Given the description of an element on the screen output the (x, y) to click on. 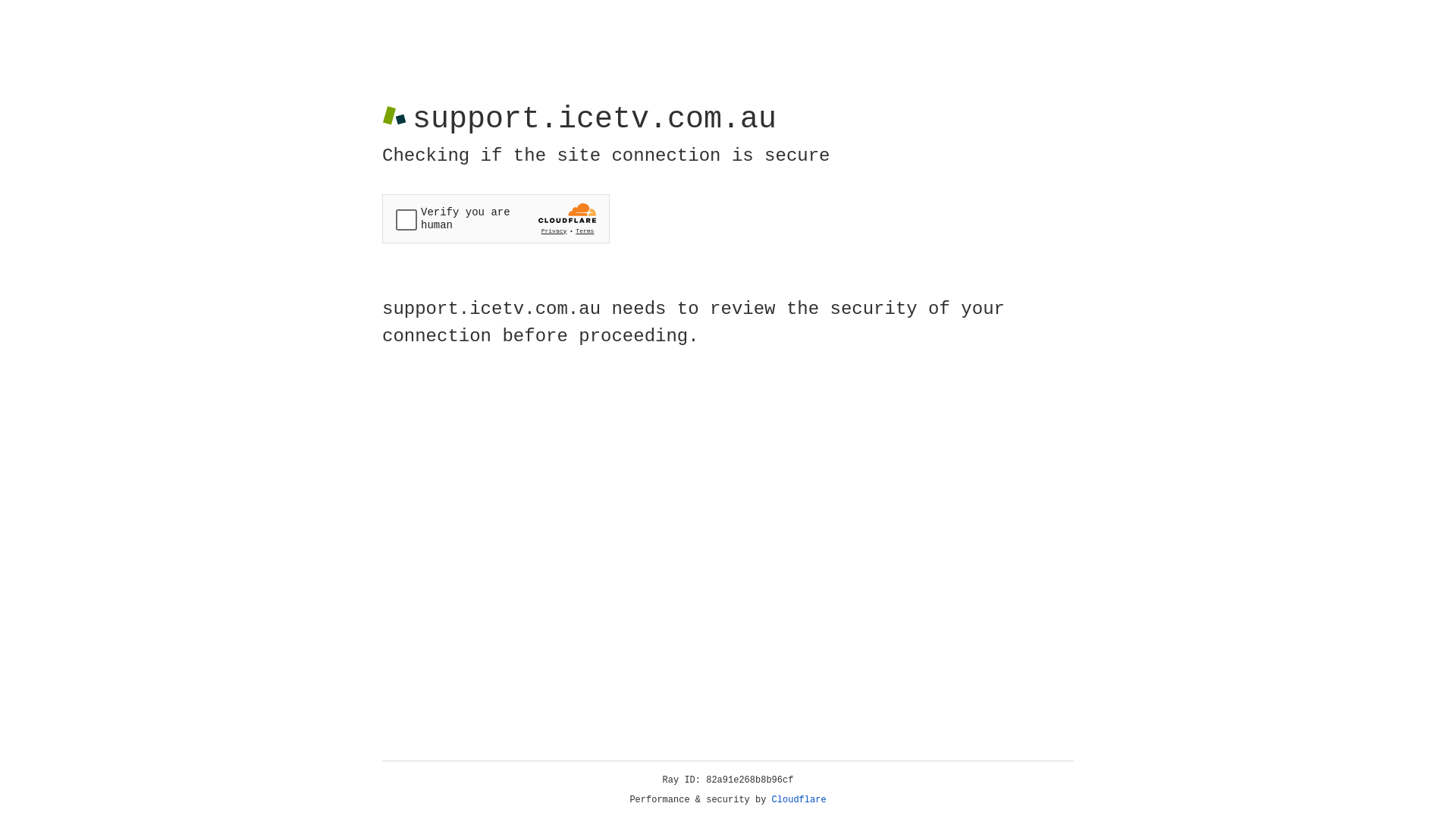
Widget containing a Cloudflare security challenge Element type: hover (495, 218)
Cloudflare Element type: text (798, 799)
